Given the description of an element on the screen output the (x, y) to click on. 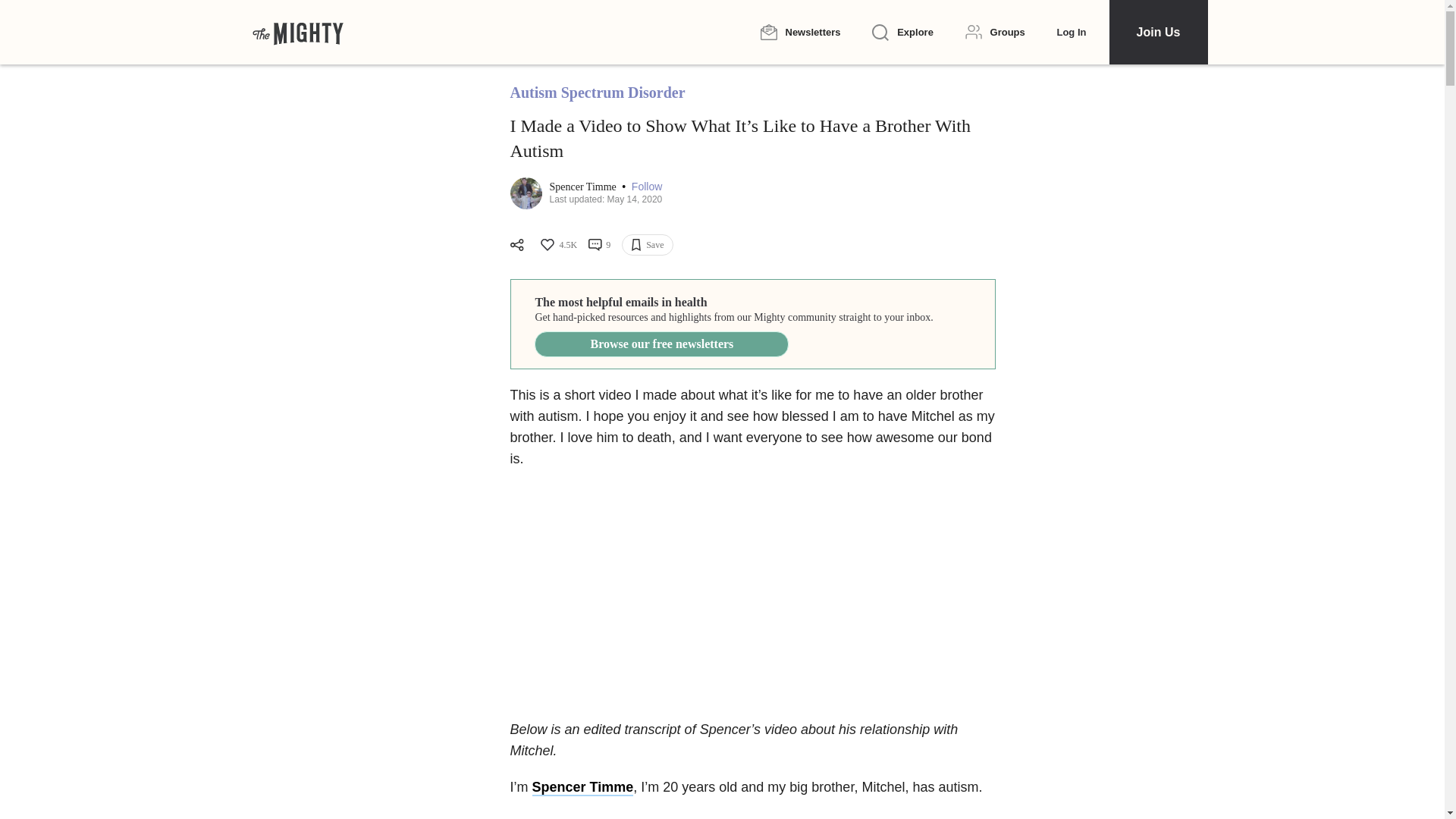
Follow (646, 186)
Spencer Timme (582, 787)
4.5K (557, 244)
The Mighty (296, 32)
Browse our free newsletters (661, 344)
Autism Spectrum Disorder (596, 92)
9 (599, 244)
Groups (995, 32)
Explore (902, 32)
Spencer Timme (583, 186)
